Given the description of an element on the screen output the (x, y) to click on. 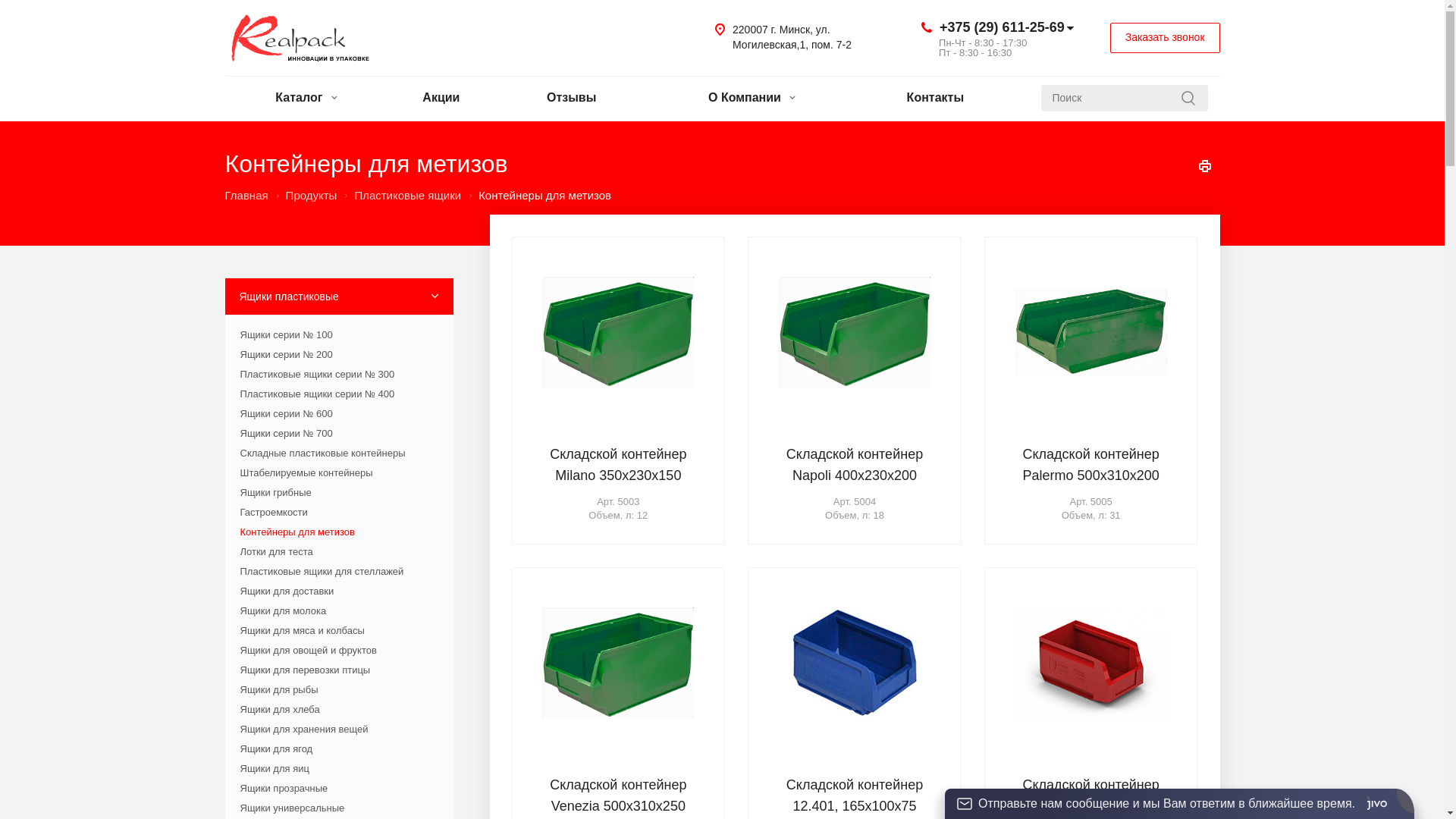
+375 (29) 611-25-69 Element type: text (1001, 26)
